Given the description of an element on the screen output the (x, y) to click on. 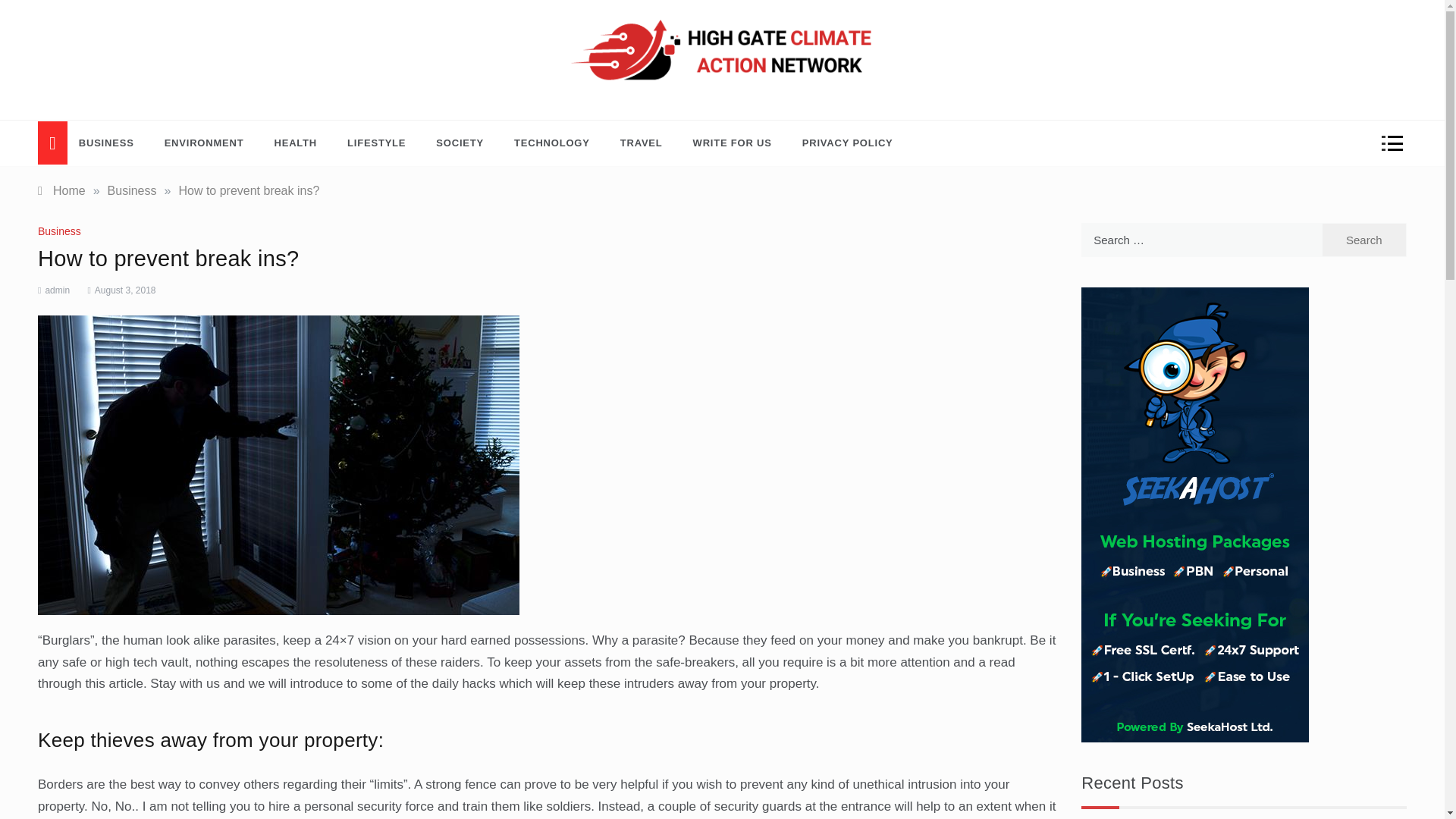
TRAVEL (641, 143)
TECHNOLOGY (552, 143)
LIFESTYLE (375, 143)
PRIVACY POLICY (840, 143)
SOCIETY (459, 143)
WRITE FOR US (732, 143)
Search (1364, 239)
HEALTH (296, 143)
BUSINESS (113, 143)
ENVIRONMENT (204, 143)
